Given the description of an element on the screen output the (x, y) to click on. 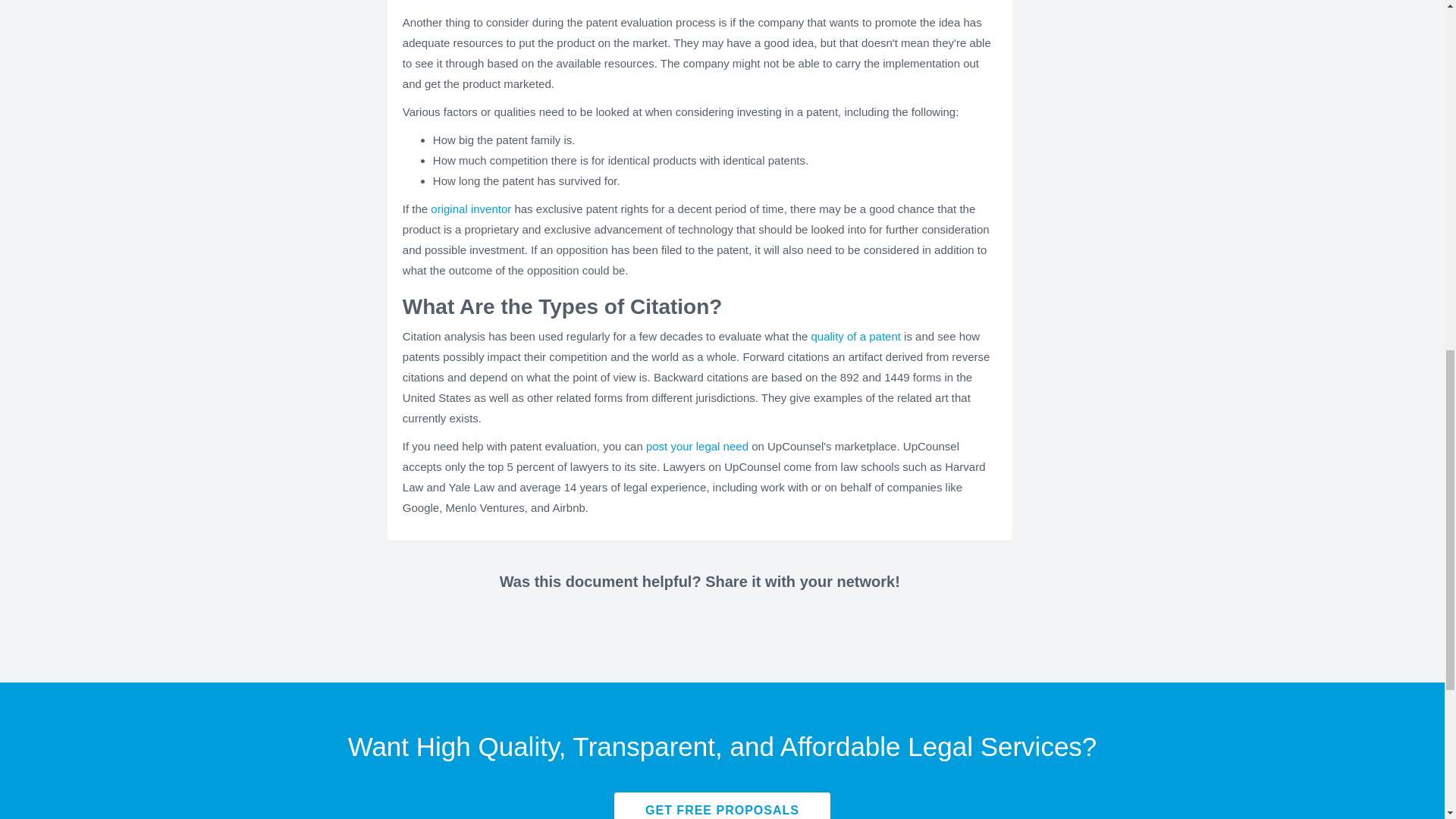
quality of a patent (855, 336)
original inventor (470, 208)
post your legal need (697, 445)
